Given the description of an element on the screen output the (x, y) to click on. 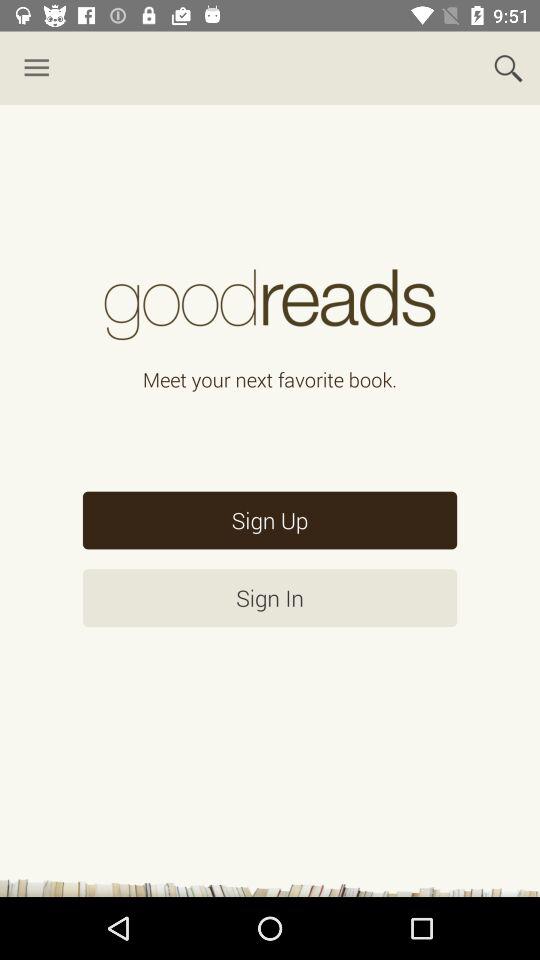
launch the icon at the top left corner (36, 68)
